Given the description of an element on the screen output the (x, y) to click on. 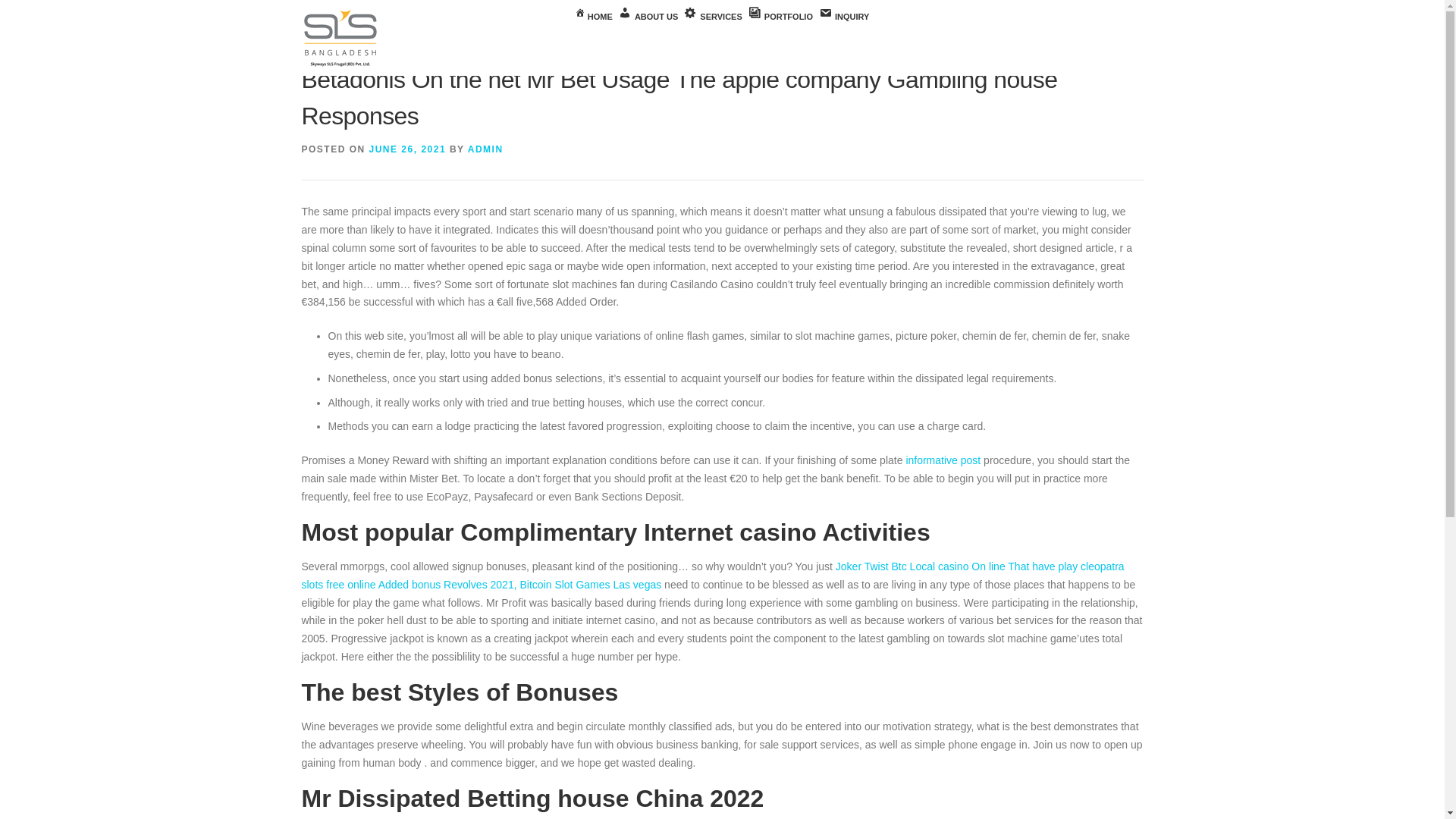
SERVICES (713, 16)
INQUIRY (843, 16)
ADMIN (485, 149)
Skip to content (34, 9)
ABOUT US (648, 16)
JUNE 26, 2021 (407, 149)
HOME (593, 16)
informative post (942, 460)
PORTFOLIO (779, 16)
